Given the description of an element on the screen output the (x, y) to click on. 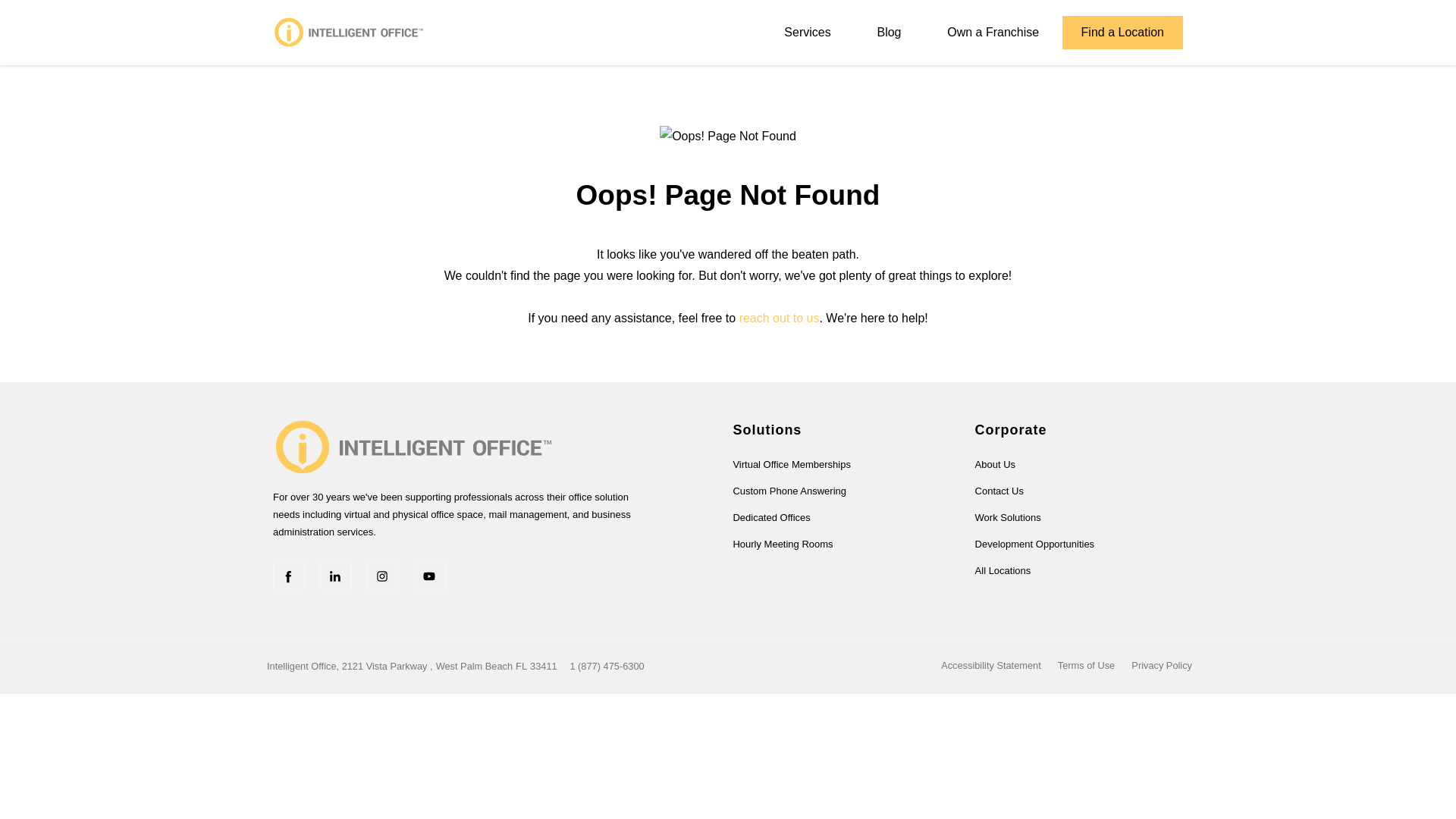
Facebook (288, 575)
Blog (888, 32)
Linkedin (336, 575)
Find a Location (1122, 32)
reach out to us (779, 318)
Own a Franchise (993, 32)
Instagram (382, 575)
Linkedin (336, 575)
Youtube (429, 575)
Intelligent Office (349, 31)
Facebook (288, 575)
Skip to main content (727, 41)
Services (807, 32)
Intelligent Office (413, 445)
